Given the description of an element on the screen output the (x, y) to click on. 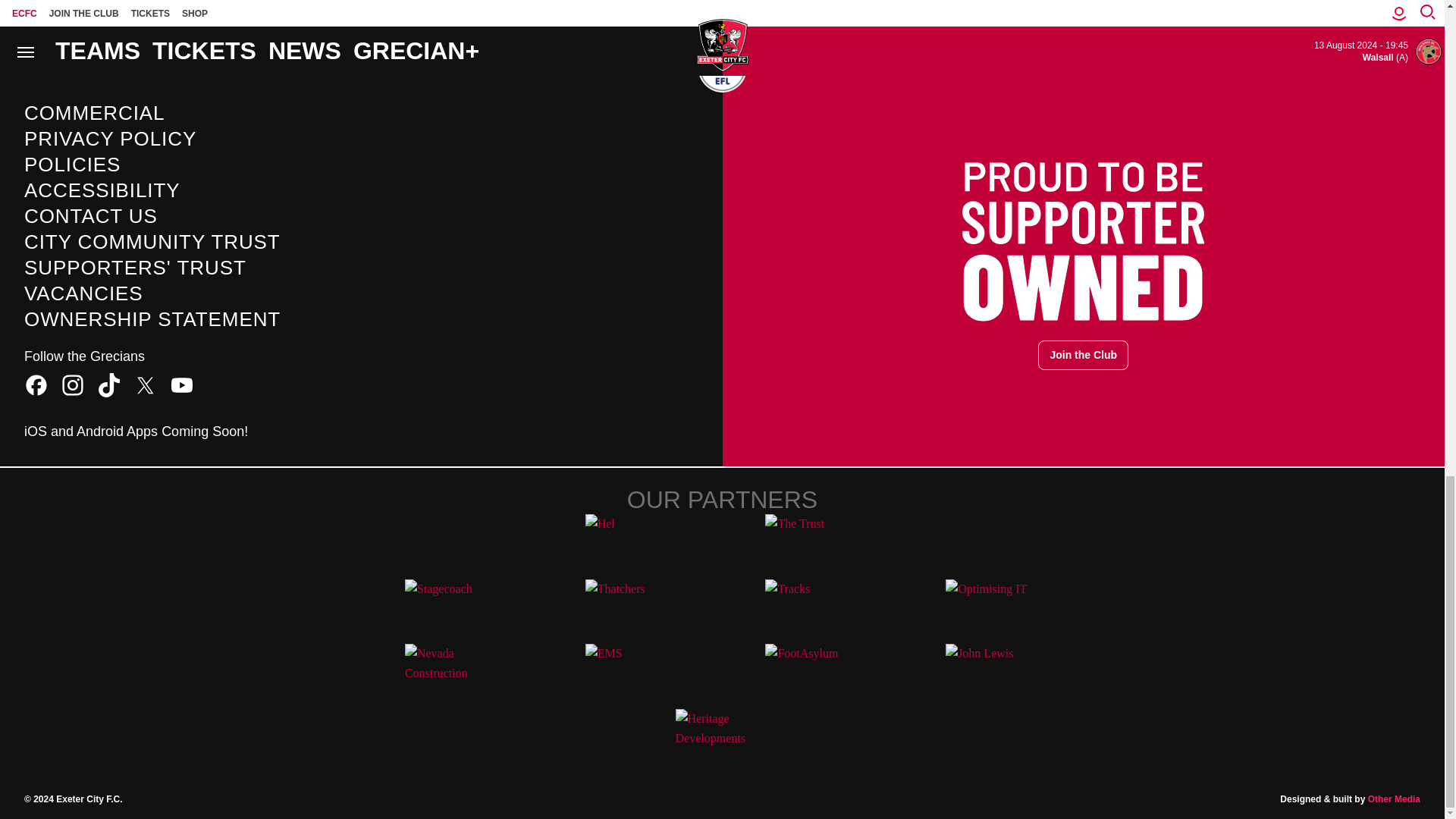
Footasylum (812, 669)
Stagecoach (451, 605)
Facebook (36, 385)
The Trust (812, 540)
TikTok icon (108, 385)
X Formally know as Twitter (145, 385)
EMS (632, 669)
John Lewis (991, 669)
Instagram (72, 385)
Heritage Developments (721, 735)
